Given the description of an element on the screen output the (x, y) to click on. 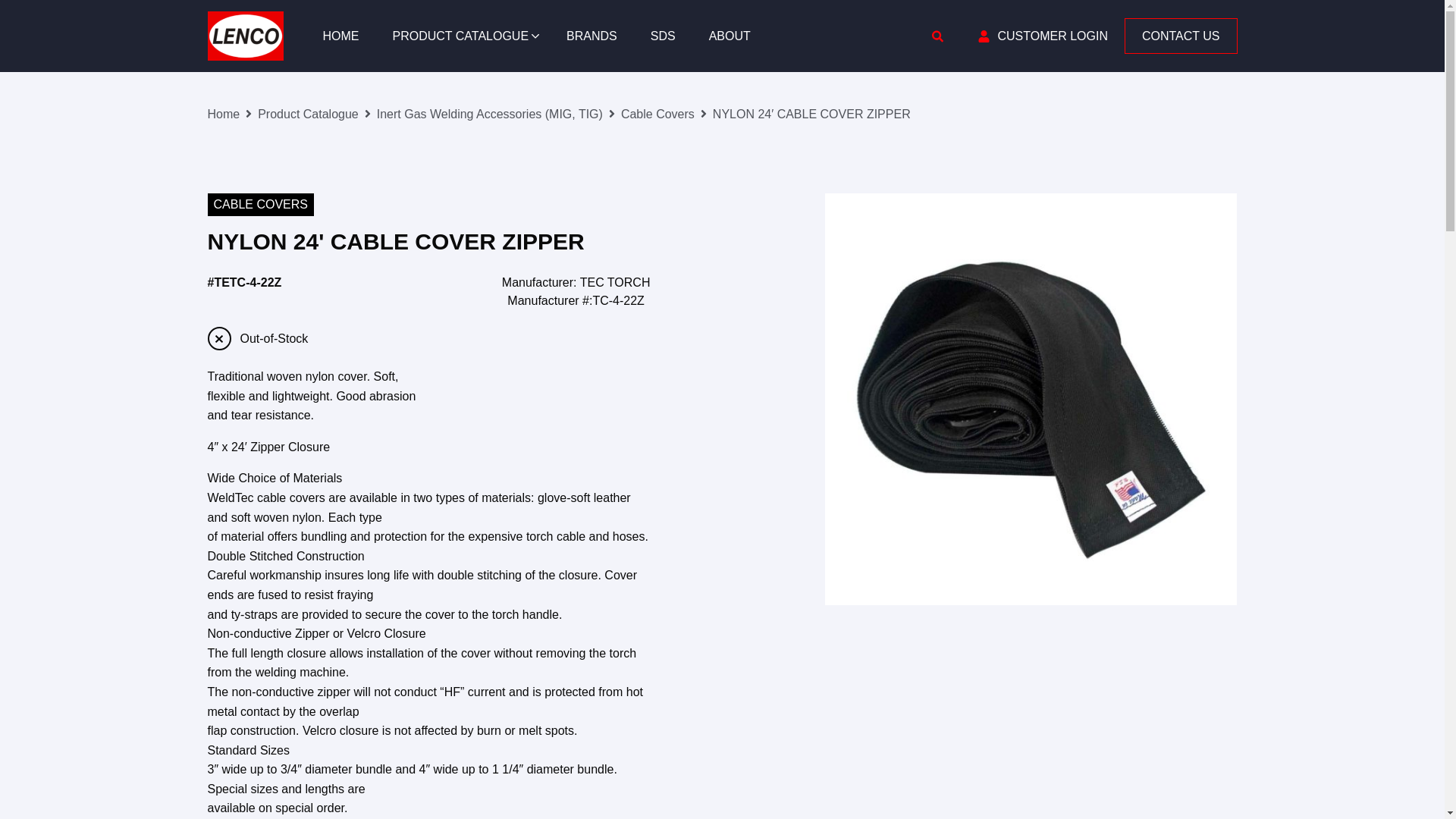
HOME (340, 36)
Go to the Cable Covers Category archives. (657, 113)
CONTACT US (1180, 36)
PRODUCT CATALOGUE (462, 36)
SDS (663, 36)
ABOUT (730, 36)
CUSTOMER LOGIN (1051, 36)
Go to Lenco Welding Accessories Ltd.. (224, 113)
Go to Product Catalogue. (307, 113)
BRANDS (591, 36)
